Given the description of an element on the screen output the (x, y) to click on. 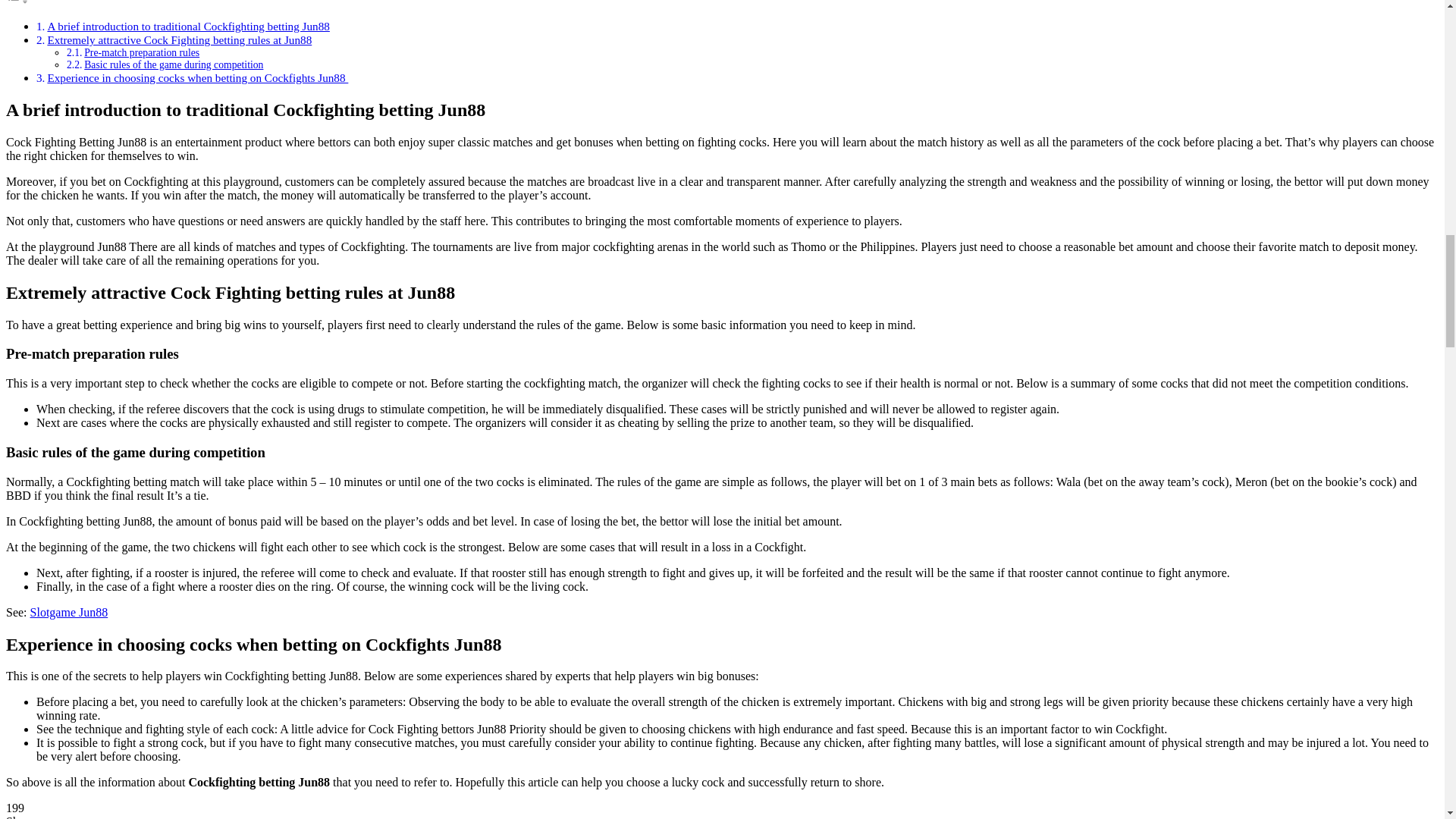
Extremely attractive Cock Fighting betting rules at Jun88 (178, 39)
Extremely attractive Cock Fighting betting rules at Jun88 (178, 39)
Pre-match preparation rules (141, 52)
Basic rules of the game during competition (173, 64)
Basic rules of the game during competition (173, 64)
Pre-match preparation rules (141, 52)
